Given the description of an element on the screen output the (x, y) to click on. 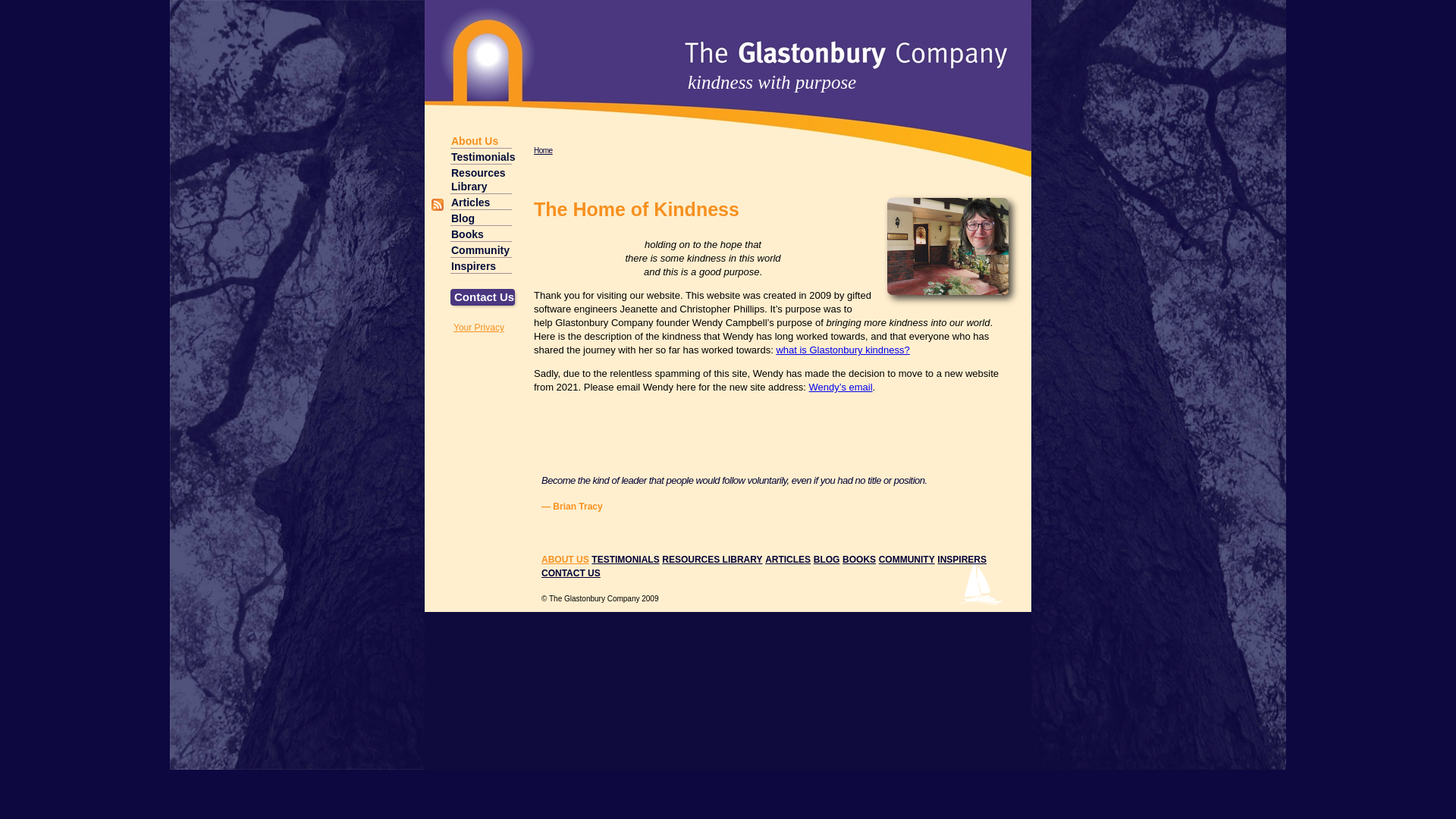
Community Element type: text (480, 249)
ABOUT US Element type: text (565, 559)
Home Element type: text (542, 150)
Testimonials Element type: text (480, 156)
ARTICLES Element type: text (787, 559)
what is Glastonbury kindness? Element type: text (842, 349)
CONTACT US Element type: text (570, 572)
Resources Library Element type: text (480, 179)
Blog Element type: text (480, 217)
BLOG Element type: text (826, 559)
Your Privacy Element type: text (478, 327)
TESTIMONIALS Element type: text (624, 559)
Books Element type: text (480, 233)
BOOKS Element type: text (858, 559)
RESOURCES LIBRARY Element type: text (712, 559)
Contact Us Element type: text (482, 296)
COMMUNITY Element type: text (906, 559)
Articles Element type: text (480, 202)
INSPIRERS Element type: text (961, 559)
About Us Element type: text (480, 140)
Inspirers Element type: text (480, 265)
